Given the description of an element on the screen output the (x, y) to click on. 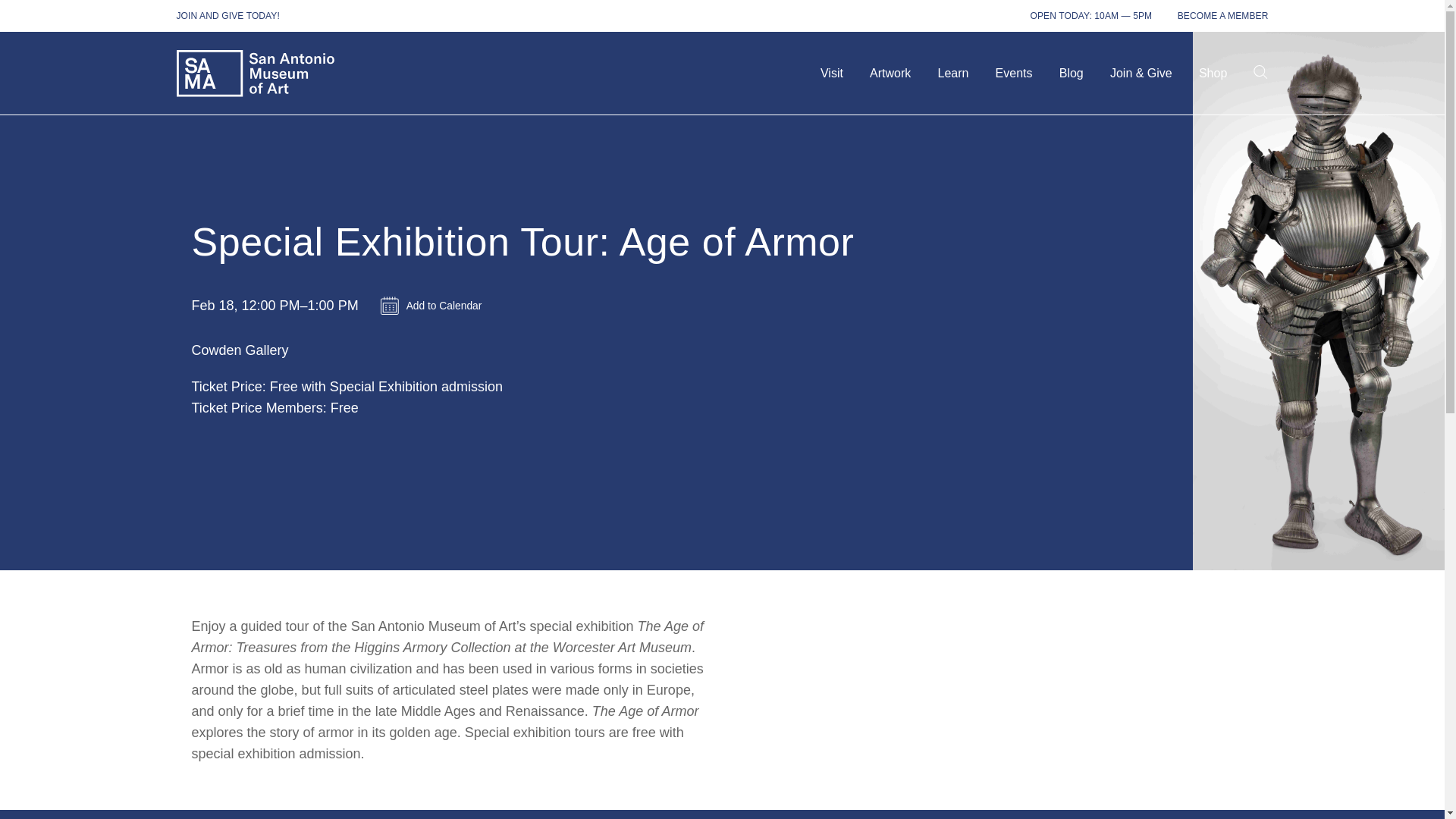
San Antonio Museum of Art (254, 73)
